Given the description of an element on the screen output the (x, y) to click on. 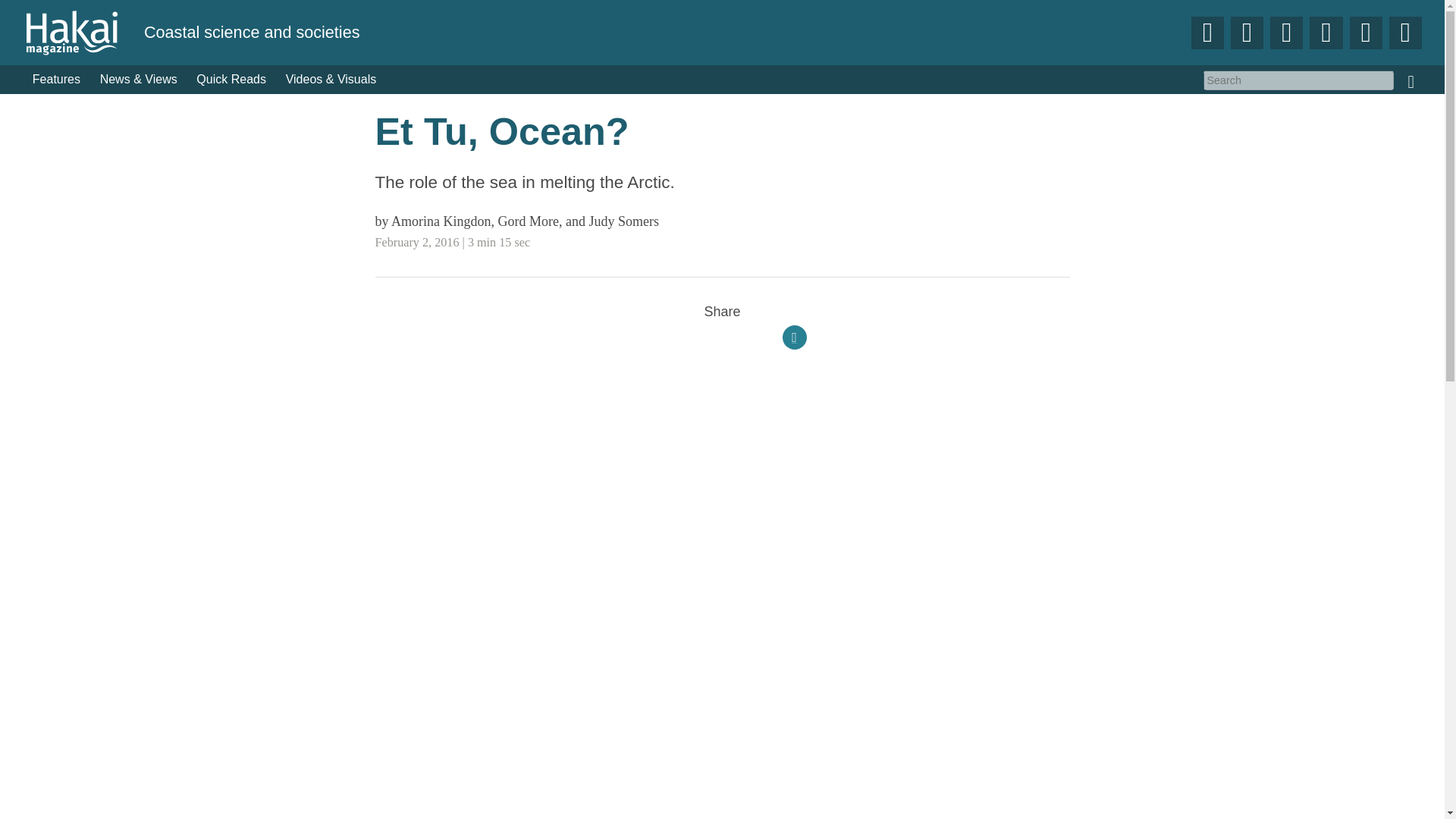
Judy Somers (623, 221)
Gord More (527, 221)
Features (56, 79)
Hakai Magazine (83, 32)
Amorina Kingdon (440, 221)
Quick Reads (231, 79)
Share by Email (794, 337)
Search for: (1298, 80)
